Given the description of an element on the screen output the (x, y) to click on. 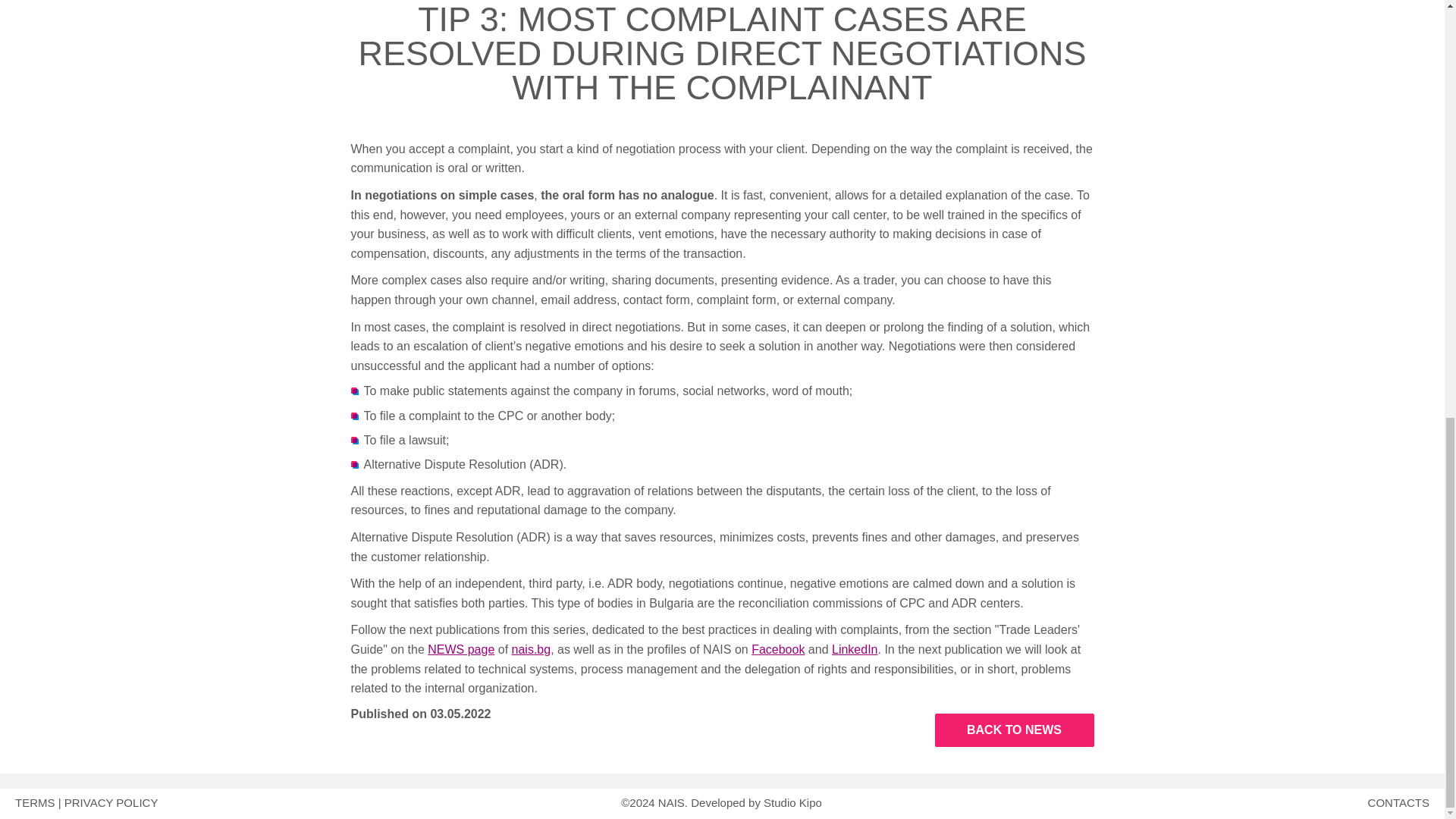
TERMS (34, 802)
CONTACTS (1398, 802)
Facebook (778, 649)
Developed by Studio Kipo (756, 802)
BACK TO NEWS (1013, 729)
nais.bg (531, 649)
NEWS page (461, 649)
LinkedIn (854, 649)
PRIVACY POLICY (111, 802)
